Given the description of an element on the screen output the (x, y) to click on. 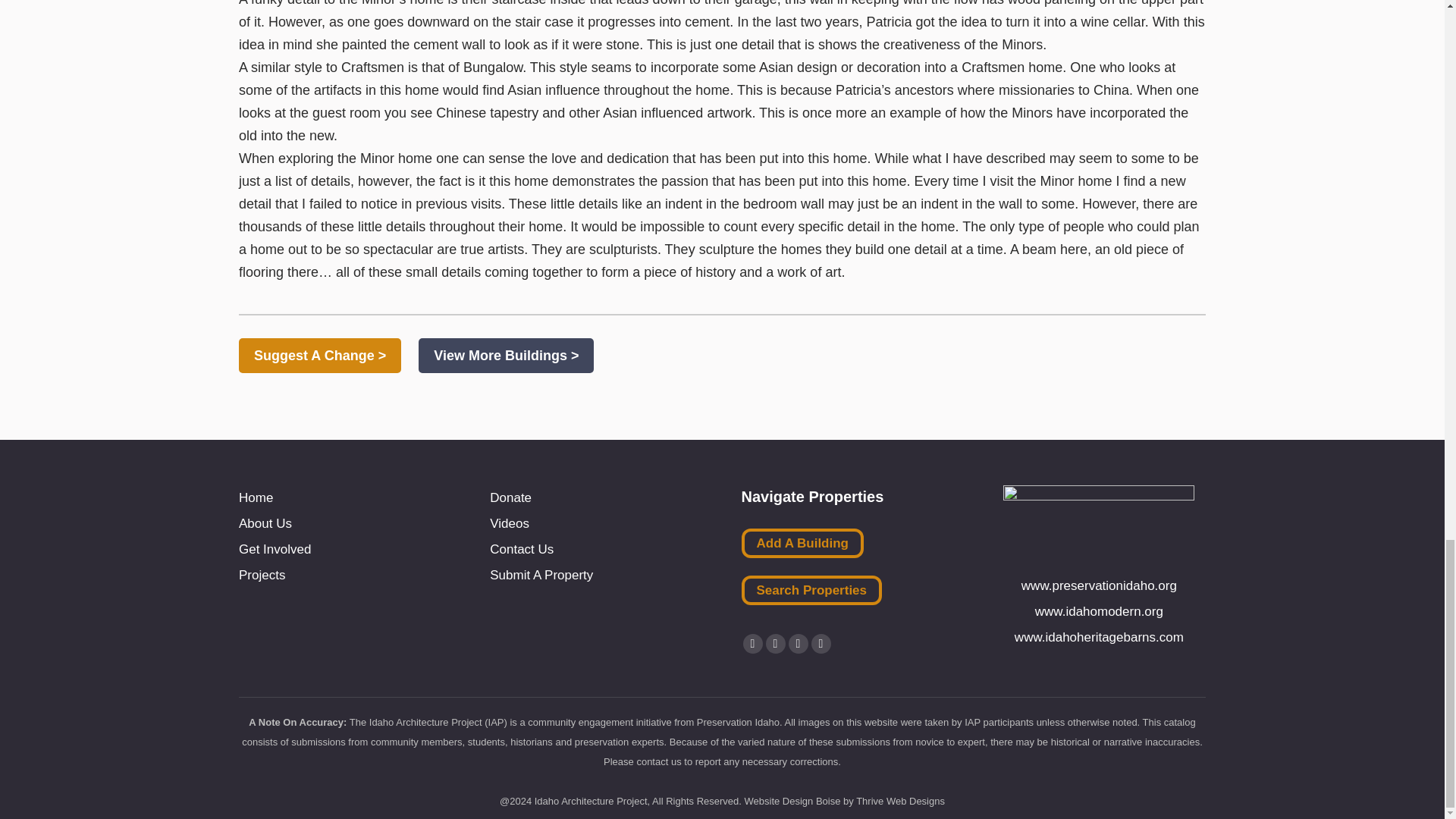
Get Involved (274, 549)
Donate (510, 497)
Videos (509, 523)
YouTube page opens in new window (798, 643)
About Us (265, 523)
Projects (261, 575)
Facebook page opens in new window (752, 643)
Home (255, 497)
Instagram page opens in new window (820, 643)
X page opens in new window (775, 643)
